Given the description of an element on the screen output the (x, y) to click on. 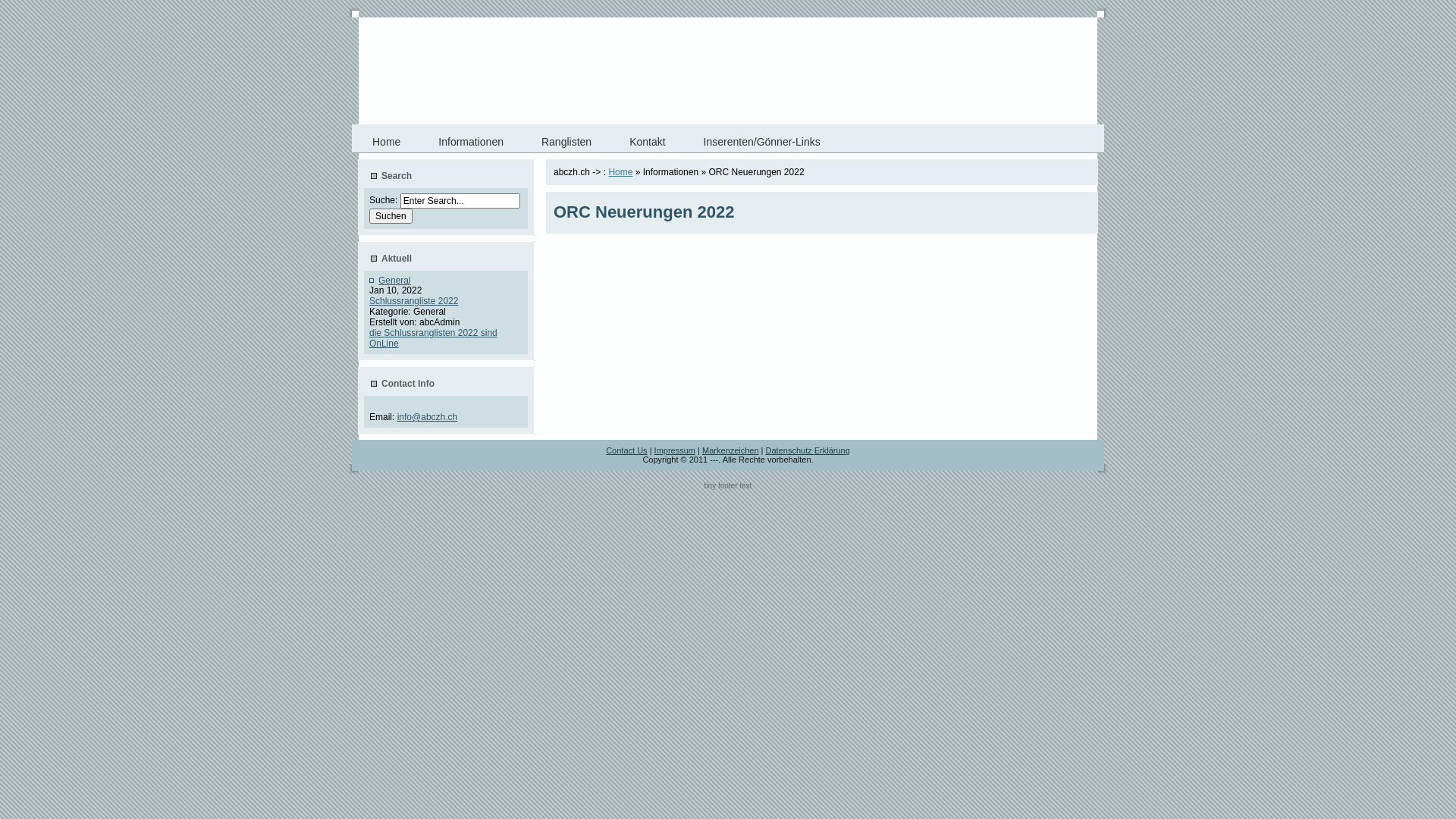
Markenzeichen Element type: text (730, 450)
Contact Us Element type: text (625, 450)
Kontakt Element type: text (646, 141)
General Element type: text (394, 280)
die Schlussranglisten 2022 sind OnLine Element type: text (433, 337)
Ranglisten Element type: text (566, 141)
info@abczh.ch Element type: text (427, 416)
Informationen Element type: text (470, 141)
Suchen Element type: text (390, 215)
Home Element type: text (385, 141)
Home Element type: text (620, 171)
Impressum Element type: text (674, 450)
Schlussrangliste 2022 Element type: text (413, 300)
